Given the description of an element on the screen output the (x, y) to click on. 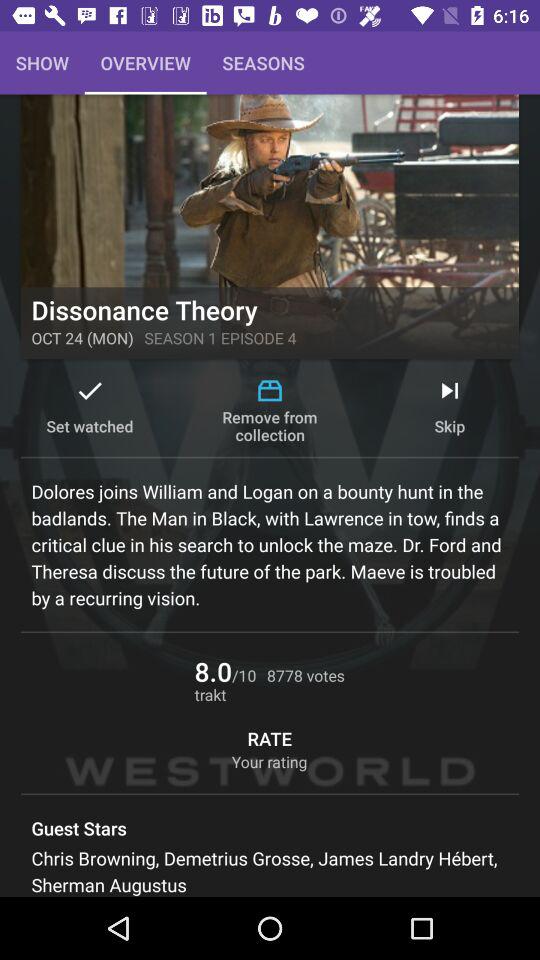
press item next to the remove from collection (450, 410)
